Given the description of an element on the screen output the (x, y) to click on. 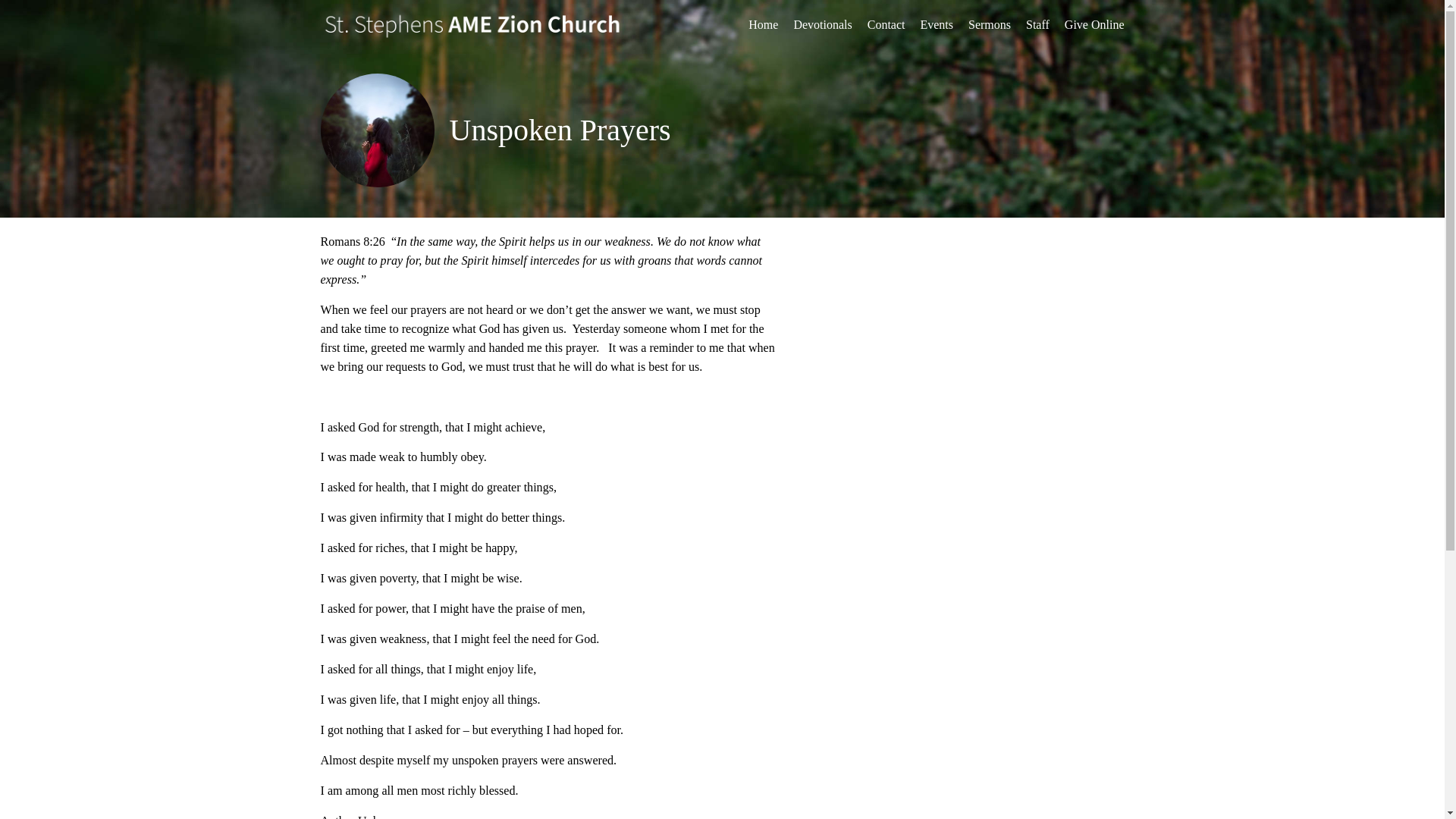
Events (936, 25)
Sermons (989, 25)
Staff (1037, 25)
Contact (886, 25)
St. Stephens AME Zion Church (494, 25)
Give Online (1094, 25)
Devotionals (822, 25)
Home (762, 25)
